Given the description of an element on the screen output the (x, y) to click on. 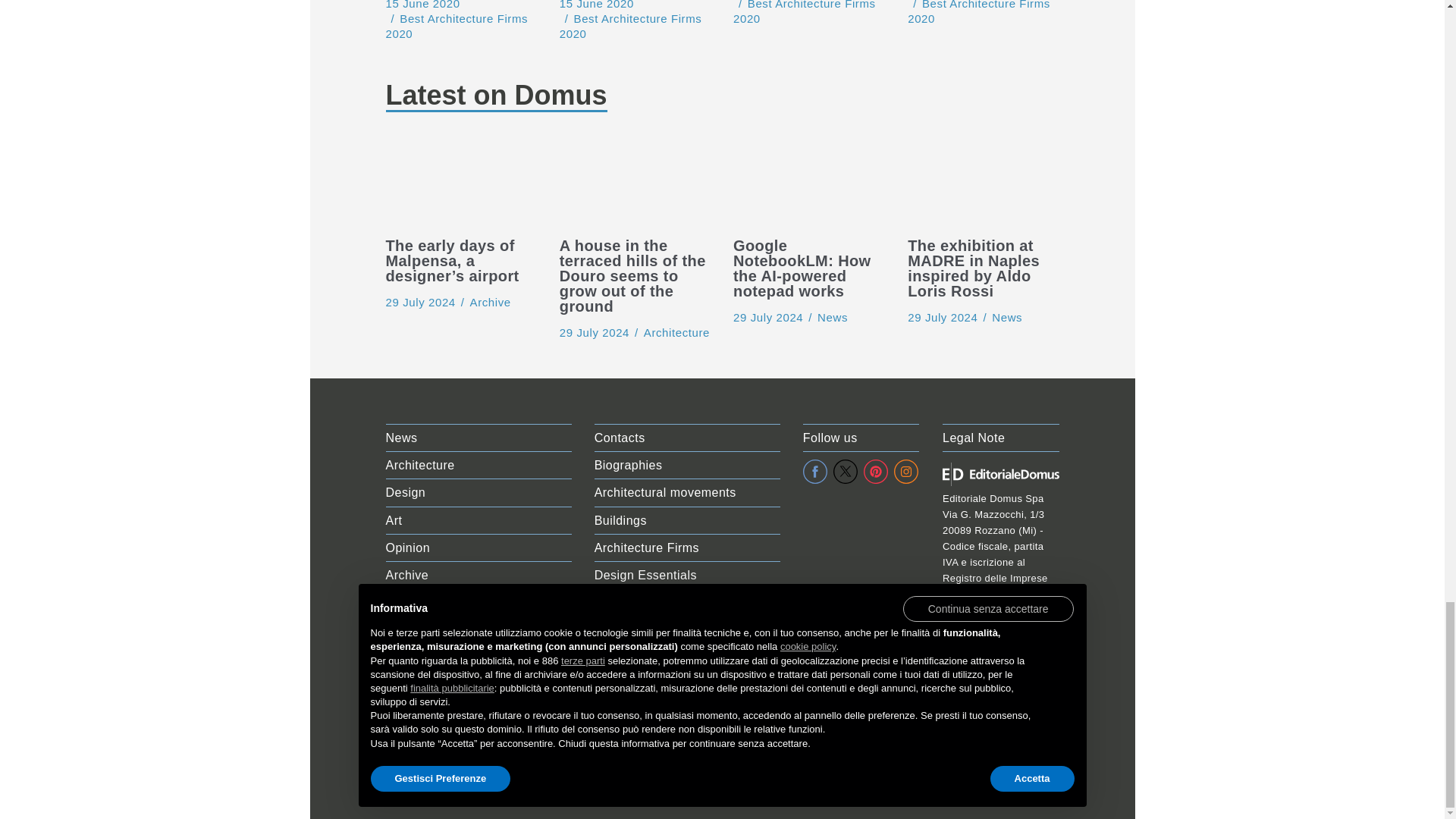
Google NotebookLM: How the AI-powered notepad works (768, 317)
Google NotebookLM: How the AI-powered notepad works (808, 182)
